Given the description of an element on the screen output the (x, y) to click on. 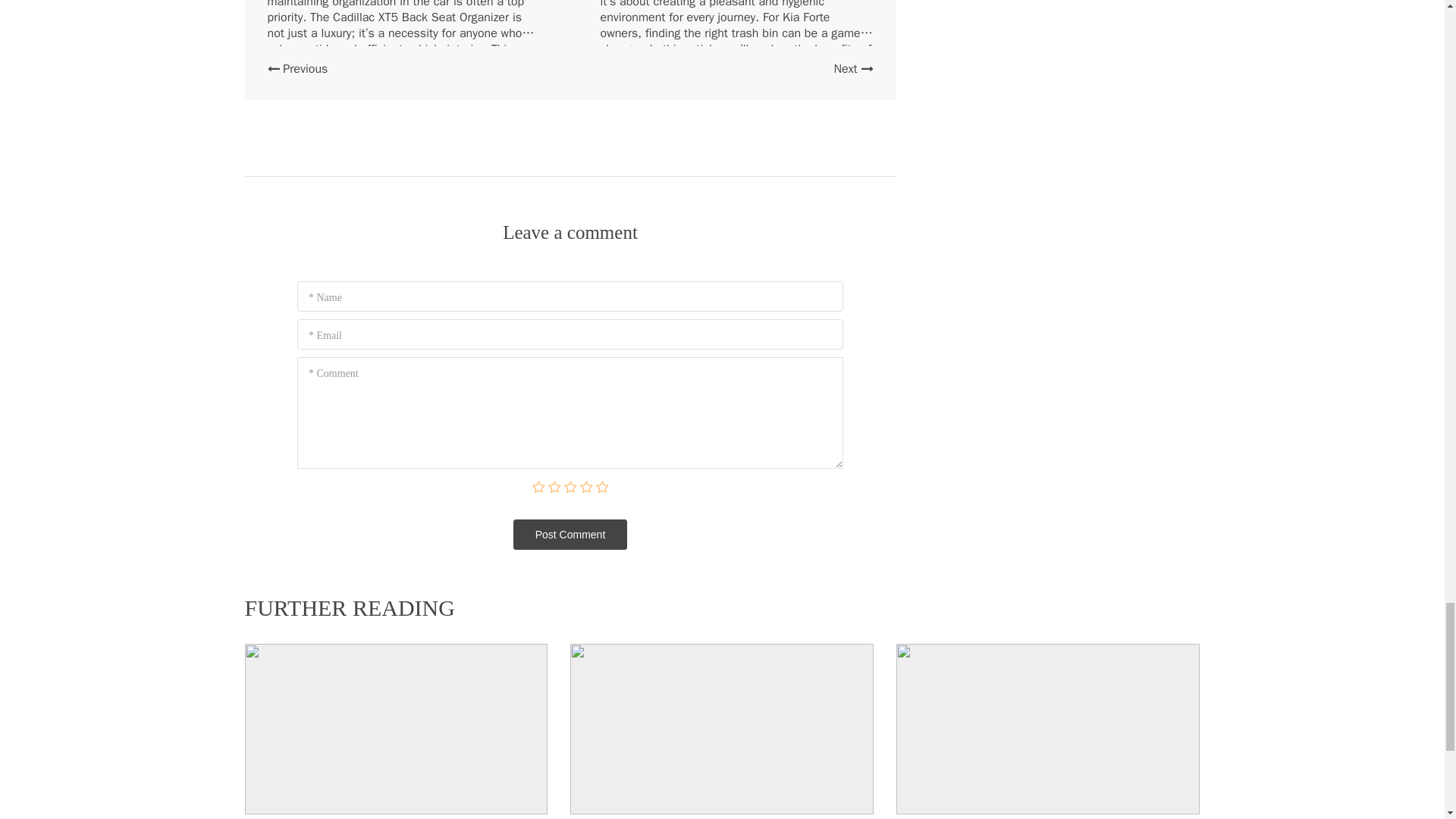
Next (852, 68)
Previous (296, 68)
